Given the description of an element on the screen output the (x, y) to click on. 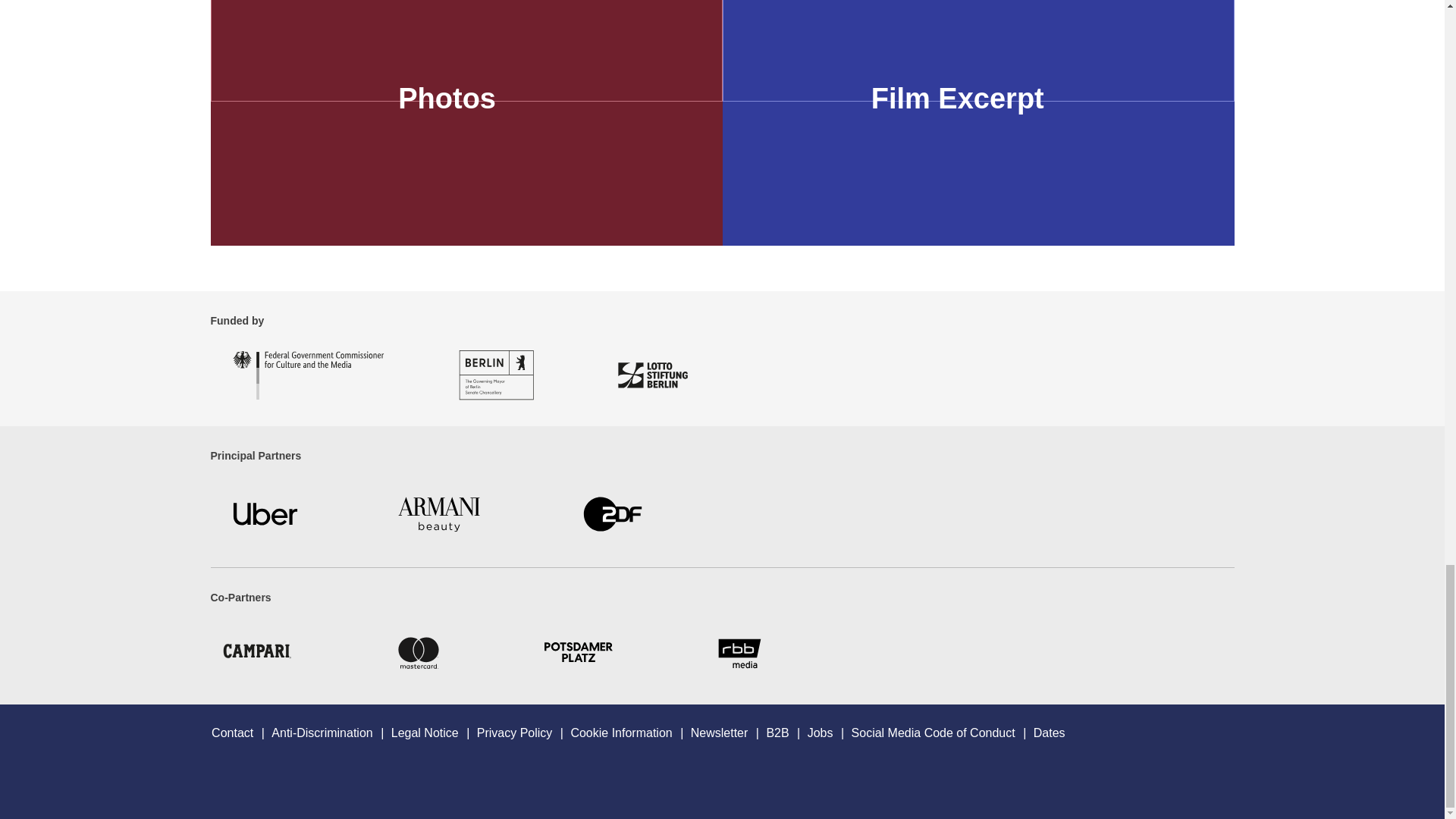
Senate Chancellery (496, 374)
Lotto Stiftung Berlin (652, 374)
Federal Government Commissioner for Culture and the Media (297, 374)
